Given the description of an element on the screen output the (x, y) to click on. 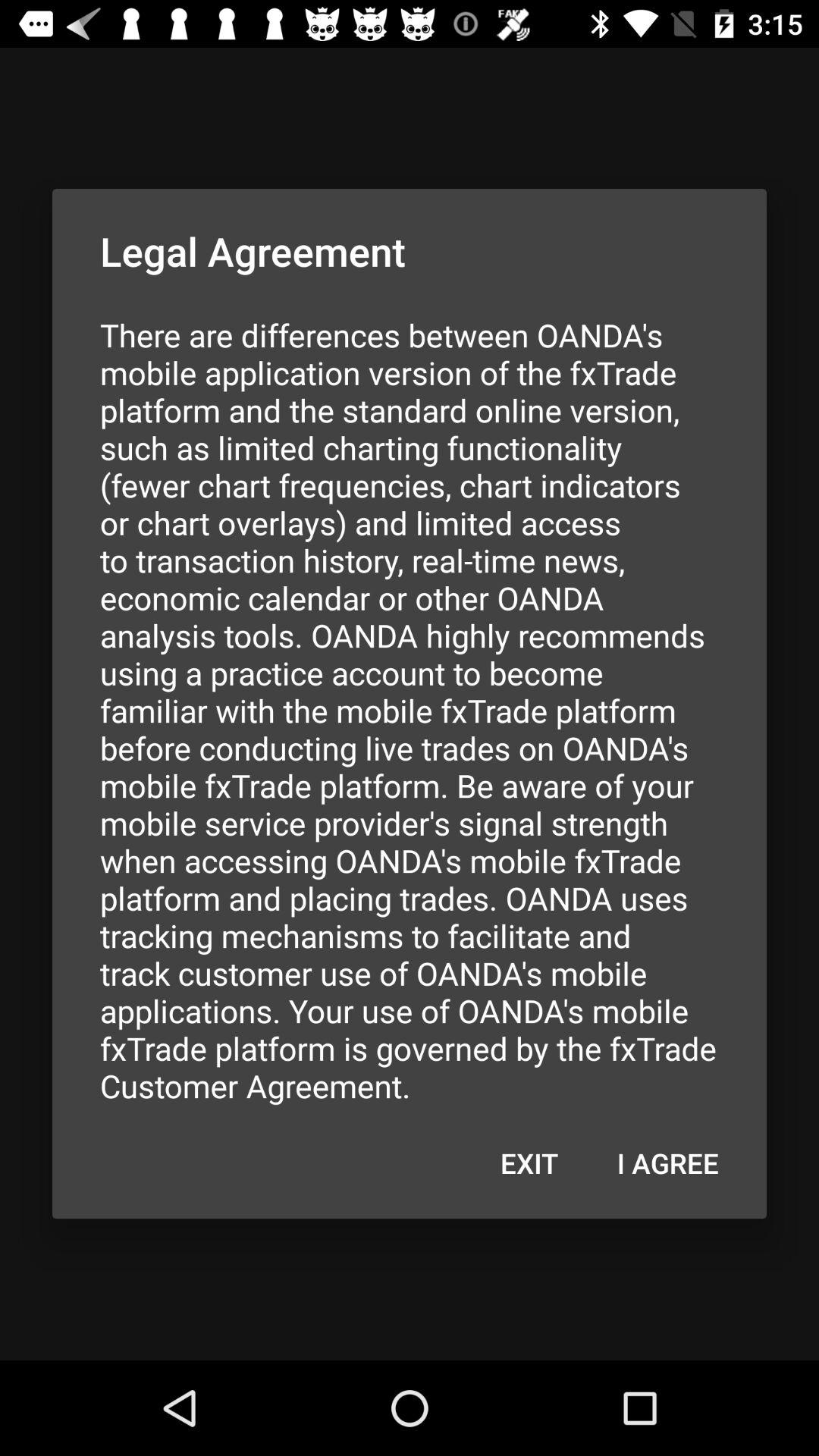
turn off icon at the bottom right corner (667, 1162)
